Given the description of an element on the screen output the (x, y) to click on. 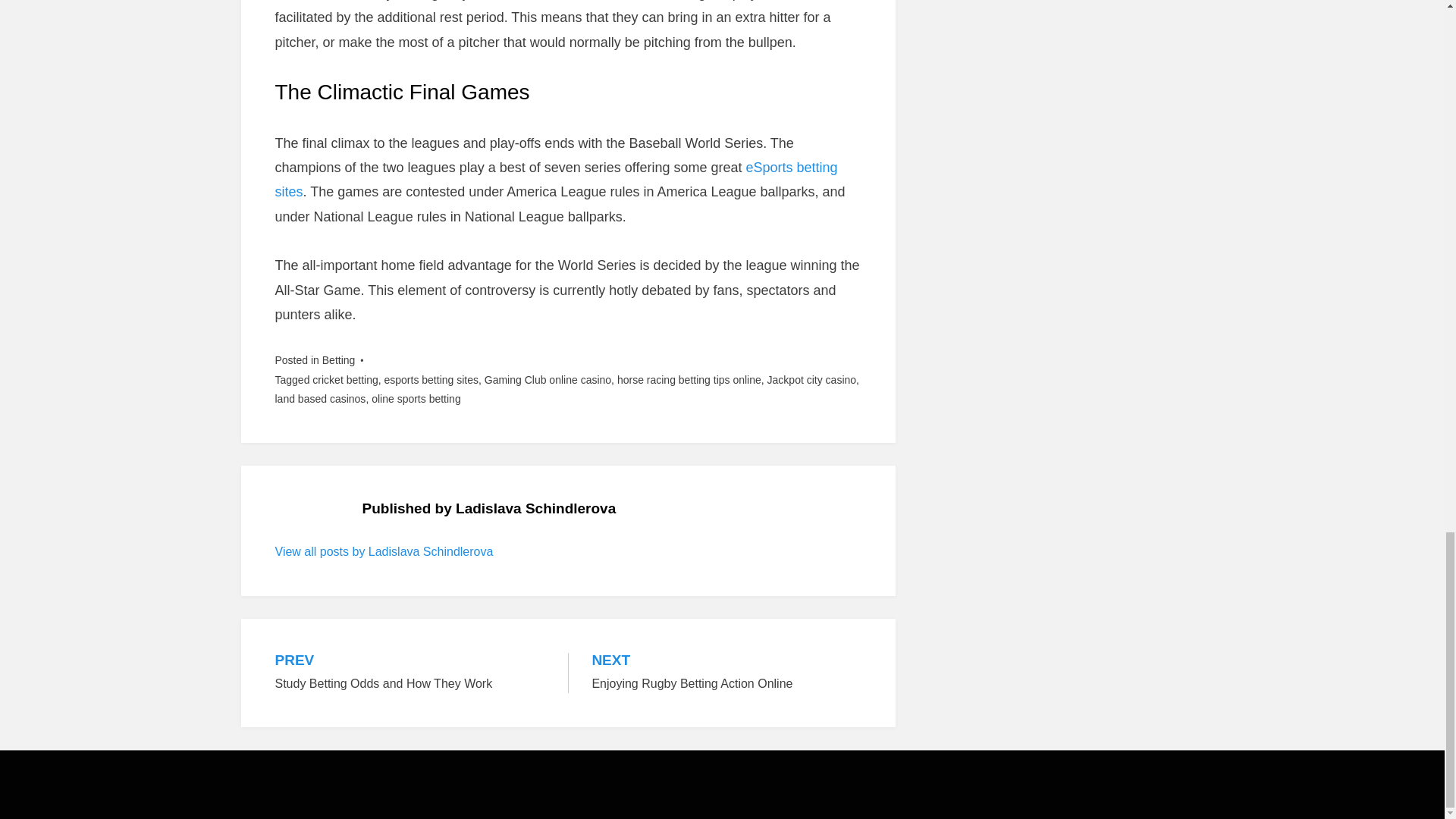
horse racing betting tips online (689, 379)
eSports betting sites (556, 179)
cricket betting (345, 379)
Gaming Club online casino (547, 379)
Jackpot city casino (812, 379)
Betting (338, 359)
oline sports betting (409, 672)
View all posts by Ladislava Schindlerova (416, 398)
esports betting sites (384, 551)
land based casinos (431, 379)
